Given the description of an element on the screen output the (x, y) to click on. 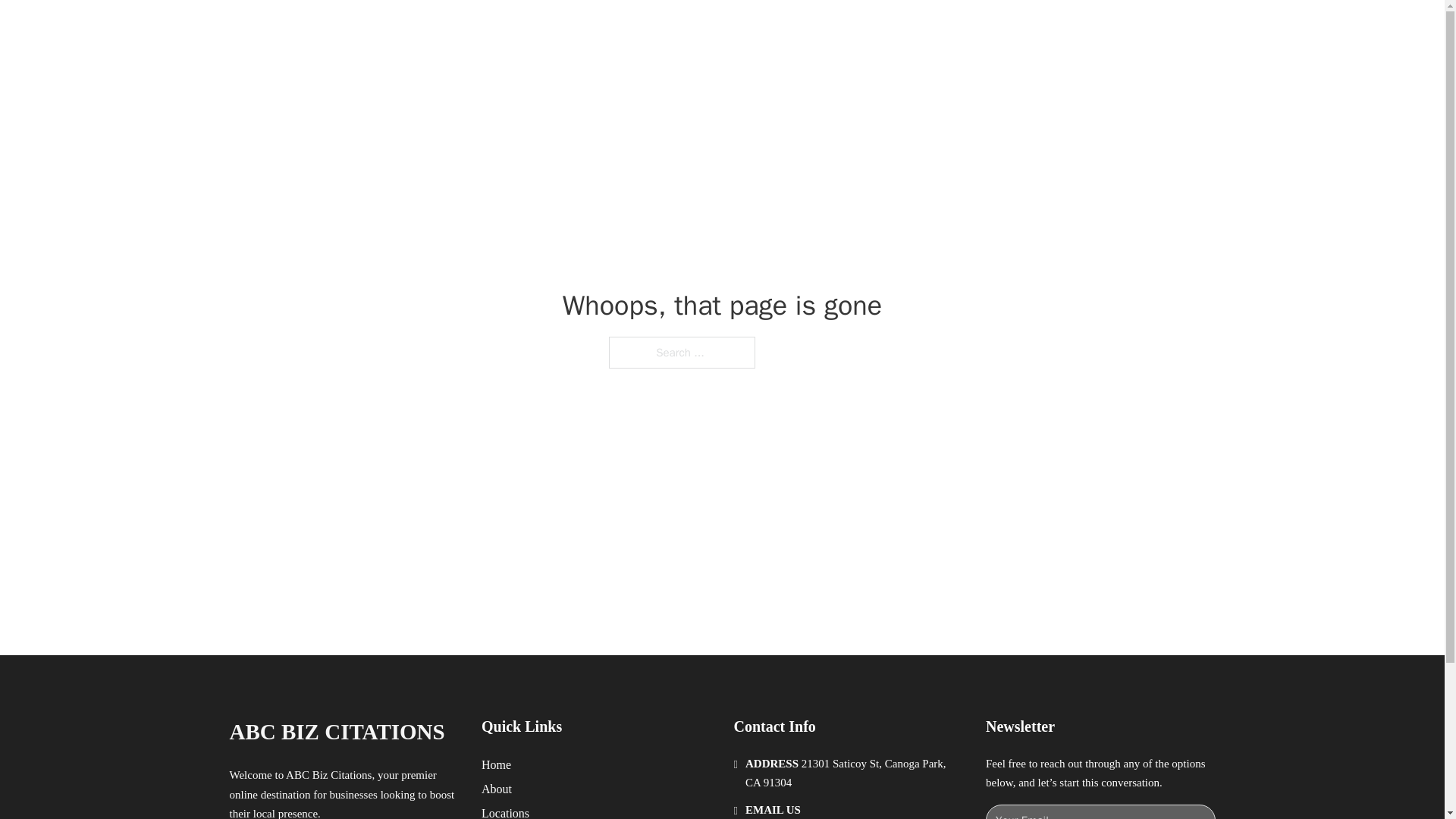
ABC BIZ CITATIONS (336, 732)
Home (496, 764)
About (496, 788)
Locations (505, 811)
ABC BIZ CITATIONS (406, 28)
